Given the description of an element on the screen output the (x, y) to click on. 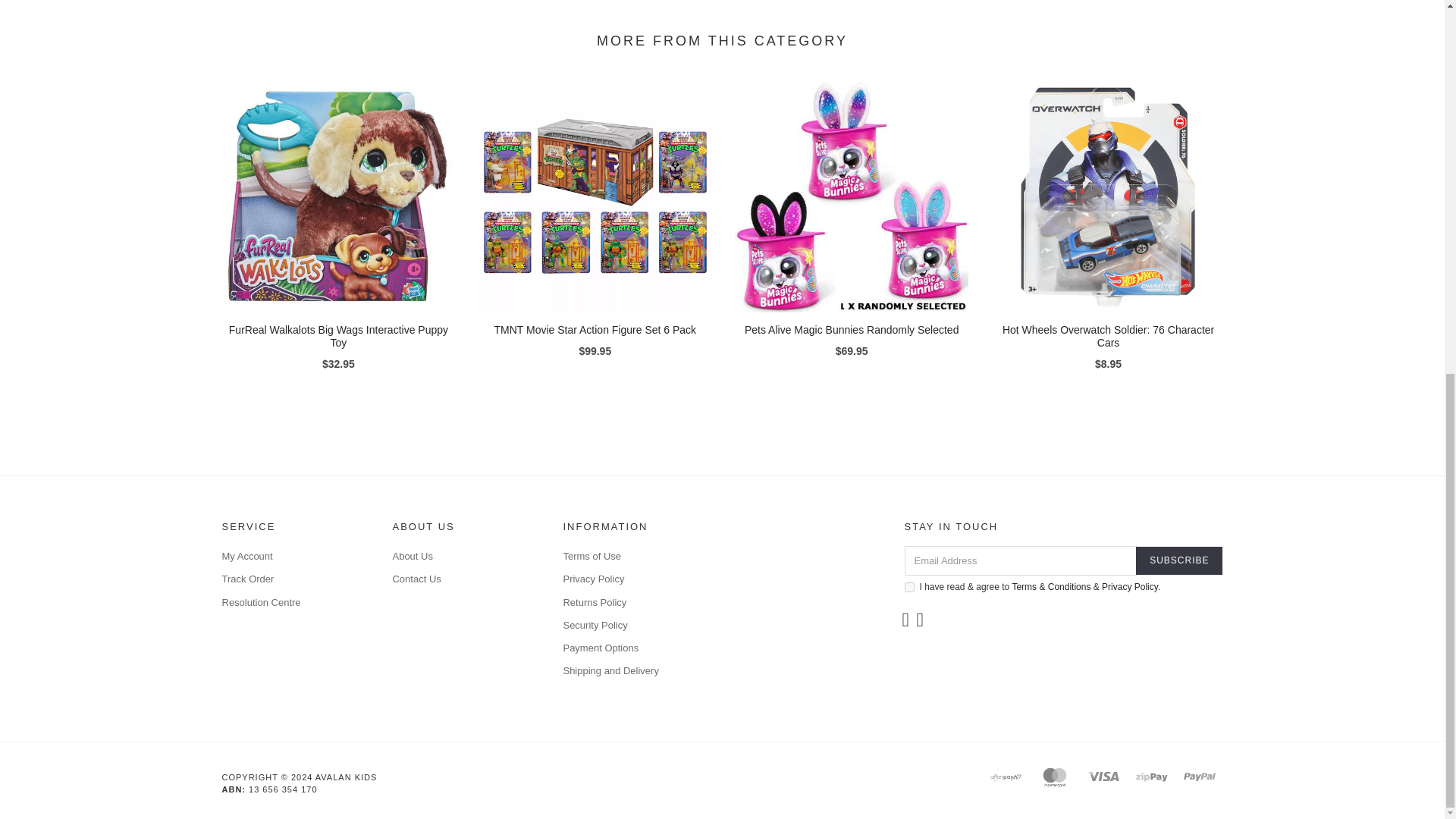
y (909, 587)
Subscribe (1179, 560)
